Given the description of an element on the screen output the (x, y) to click on. 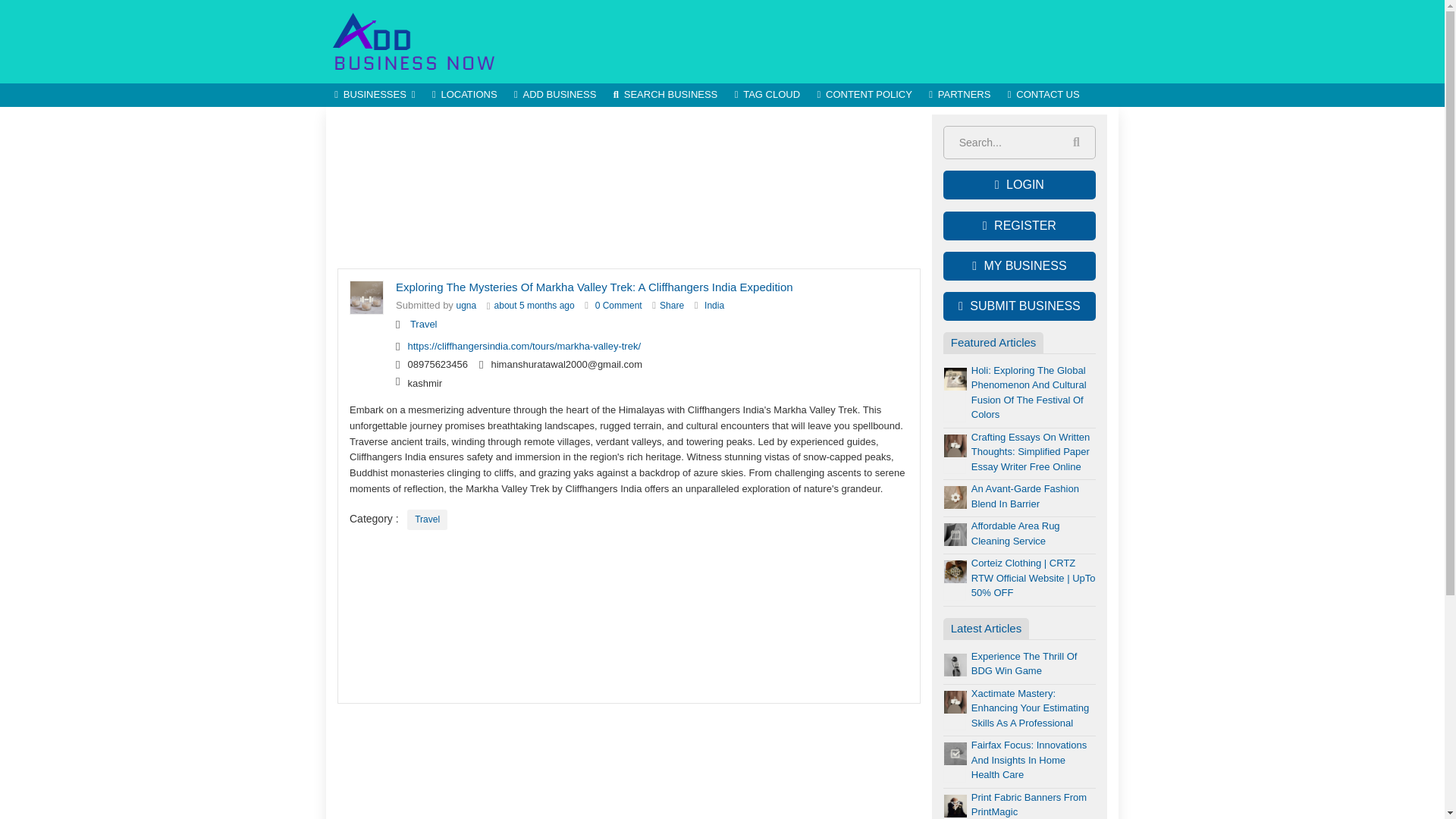
SUBMIT BUSINESS (1019, 306)
about 5 months ago (535, 305)
CONTACT US (1042, 95)
0 Comment (618, 305)
ADD BUSINESS (555, 95)
Share (671, 305)
BUSINESSES (374, 95)
CONTENT POLICY (864, 95)
TAG CLOUD (766, 95)
Travel (426, 519)
India (713, 305)
Advertisement (842, 41)
himanshu ratawal (467, 305)
Travel (426, 519)
LOGIN (1019, 184)
